Given the description of an element on the screen output the (x, y) to click on. 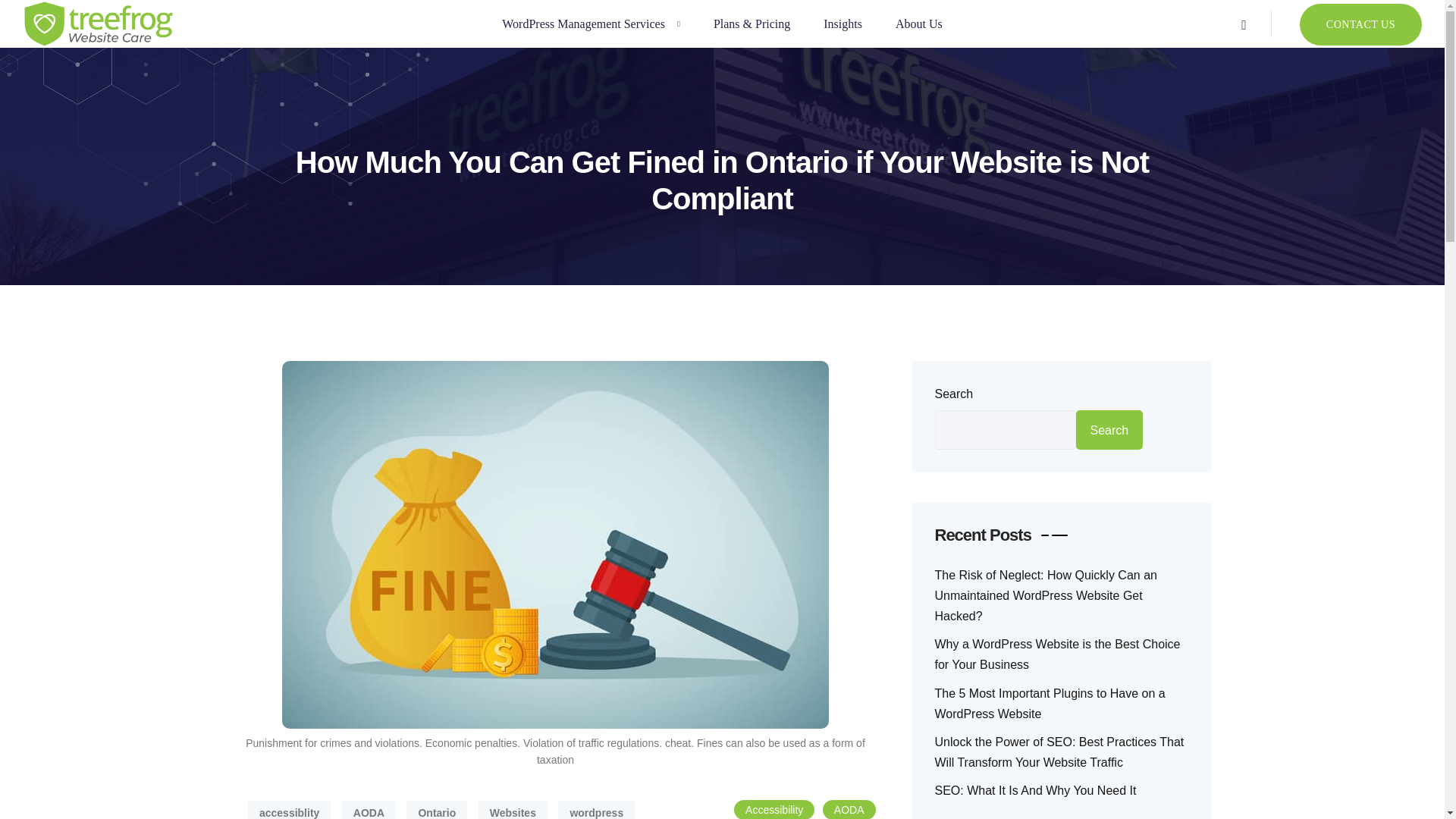
The 5 Most Important Plugins to Have on a WordPress Website (1049, 703)
About Us (918, 23)
Search (1108, 429)
Insights (842, 23)
WordPress Management Services (590, 23)
CONTACT US (1361, 24)
Websites (513, 809)
AODA (369, 809)
Why a WordPress Website is the Best Choice for Your Business (1056, 654)
SEO: What It Is And Why You Need It (1034, 789)
AODA (849, 809)
accessiblity (288, 809)
Ontario (436, 809)
